Given the description of an element on the screen output the (x, y) to click on. 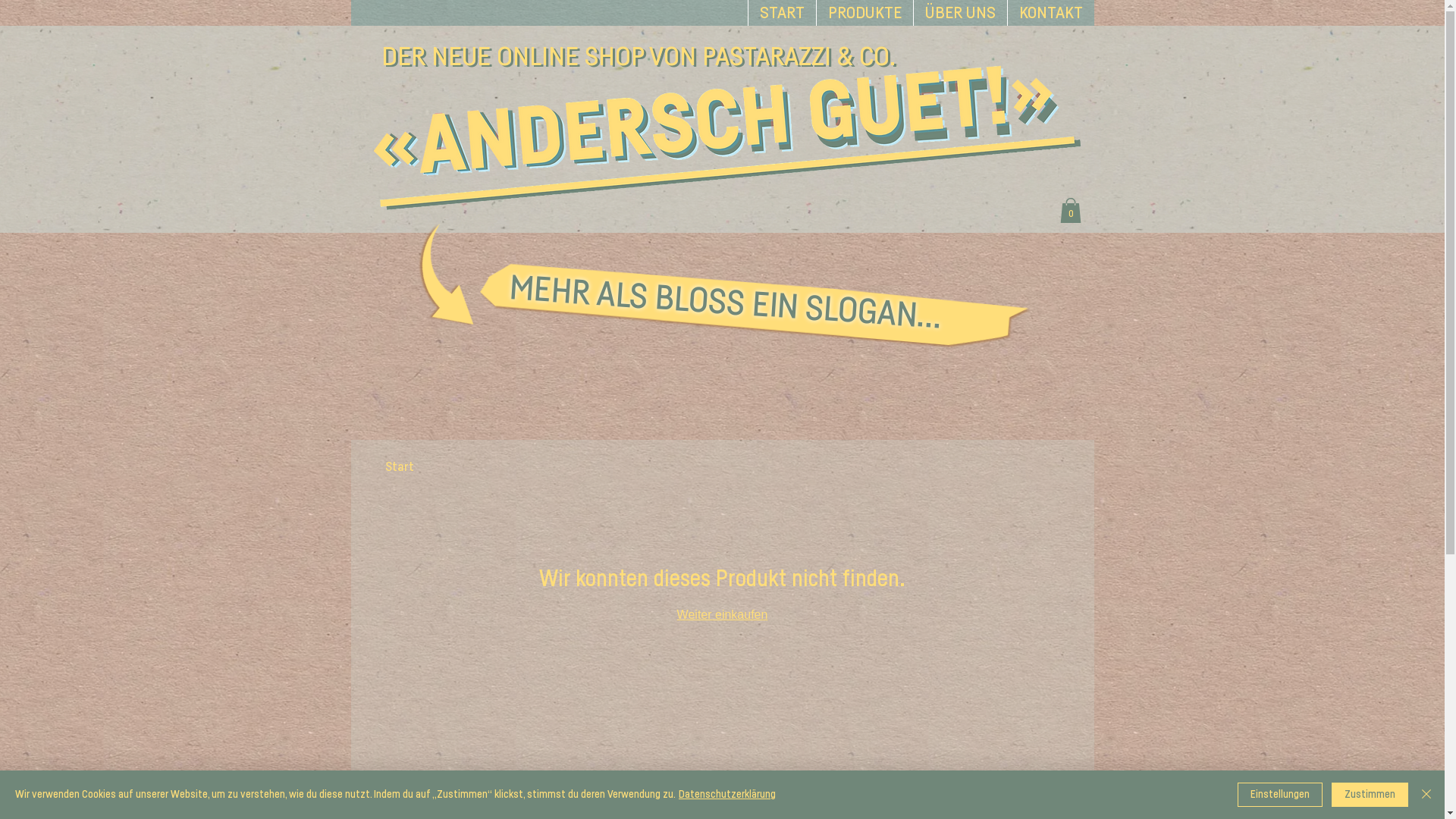
PRODUKTE Element type: text (864, 12)
0 Element type: text (1070, 209)
START Element type: text (781, 12)
Einstellungen Element type: text (1279, 794)
Weiter einkaufen Element type: text (722, 614)
Start Element type: text (399, 466)
Zustimmen Element type: text (1369, 794)
KONTAKT Element type: text (1050, 12)
